Given the description of an element on the screen output the (x, y) to click on. 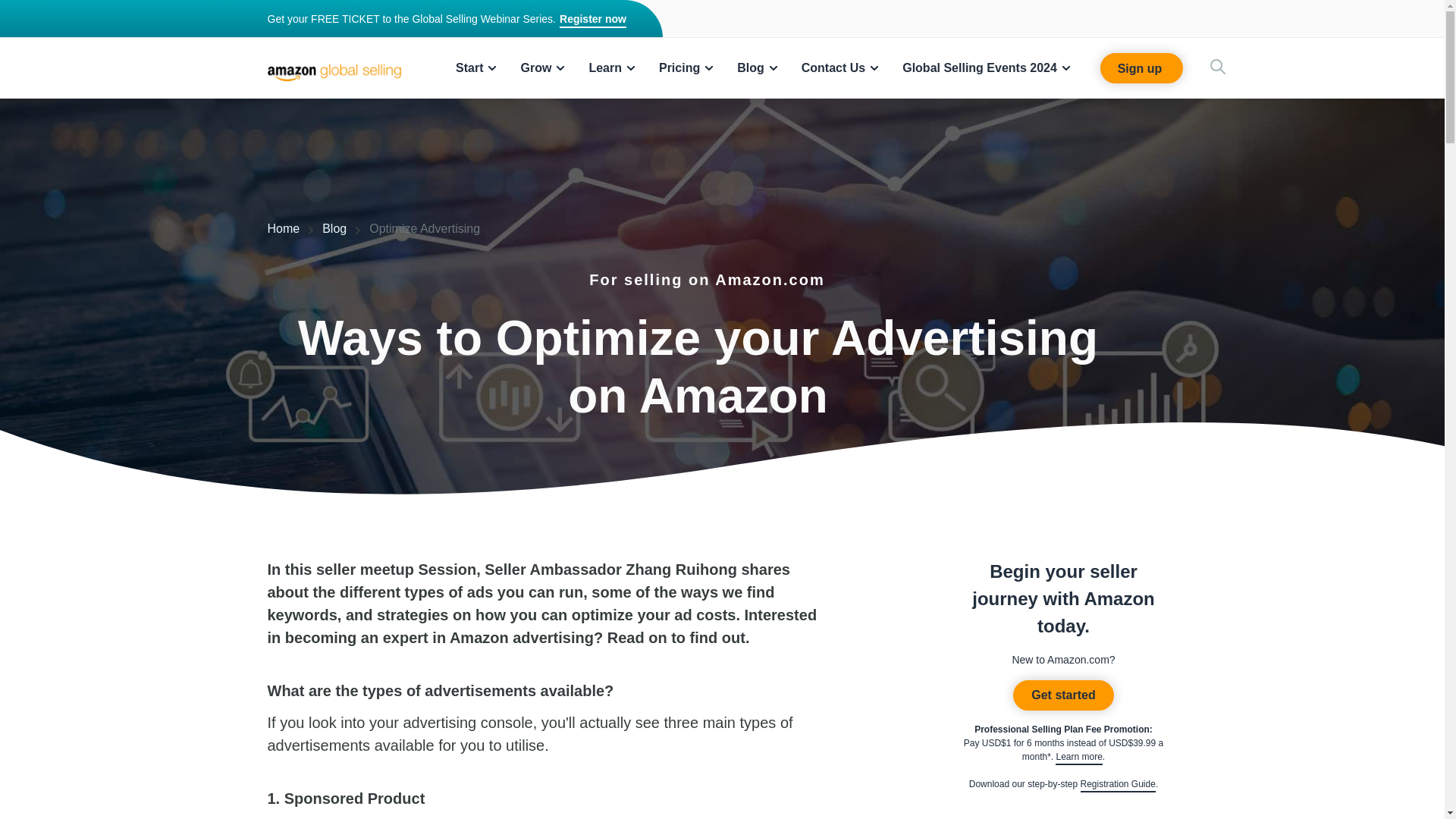
Grow (541, 68)
Learn (611, 68)
Blog (756, 68)
Pricing (686, 68)
Register now (592, 19)
Start (475, 68)
